Given the description of an element on the screen output the (x, y) to click on. 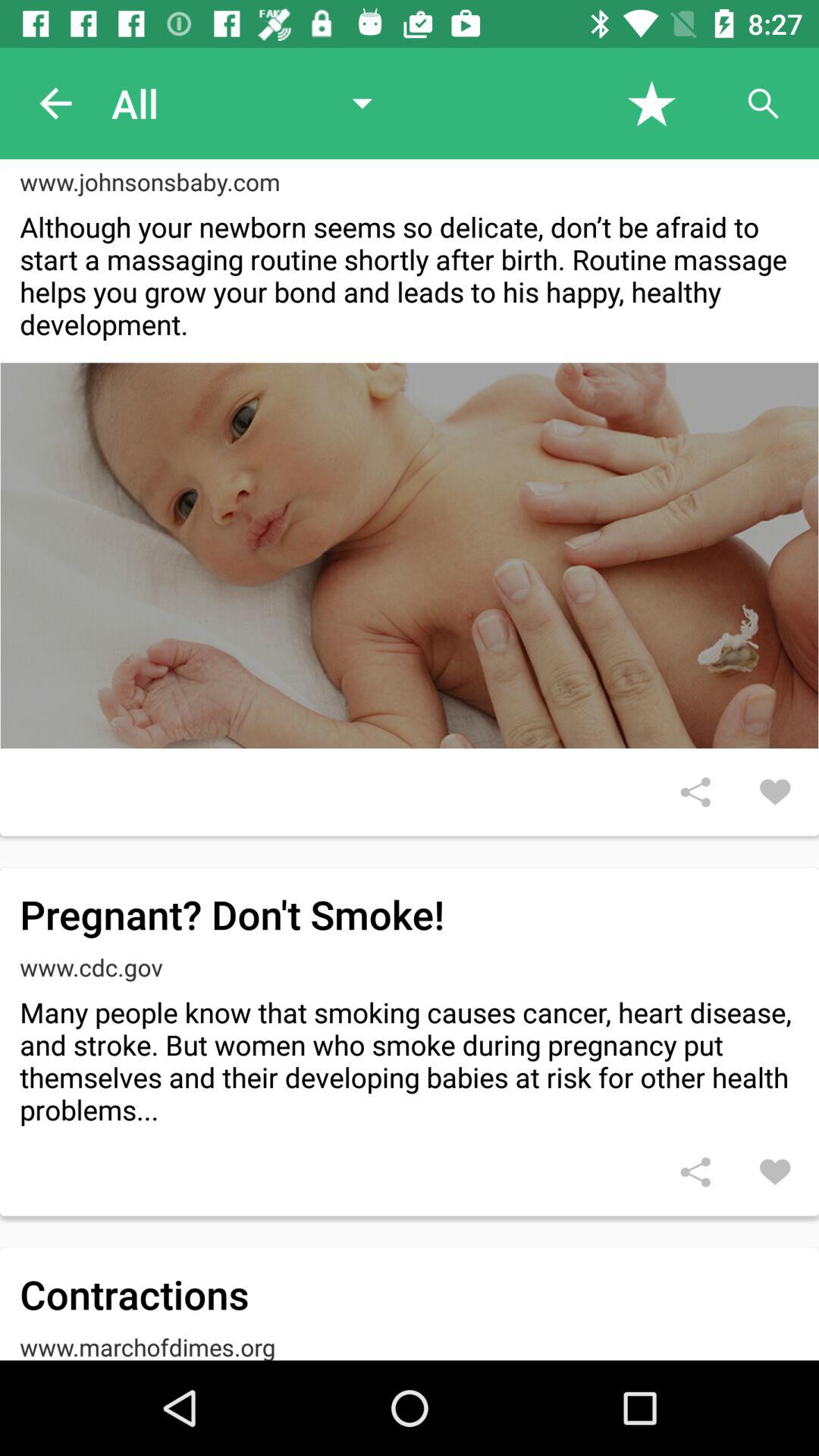
like the article (775, 1172)
